Given the description of an element on the screen output the (x, y) to click on. 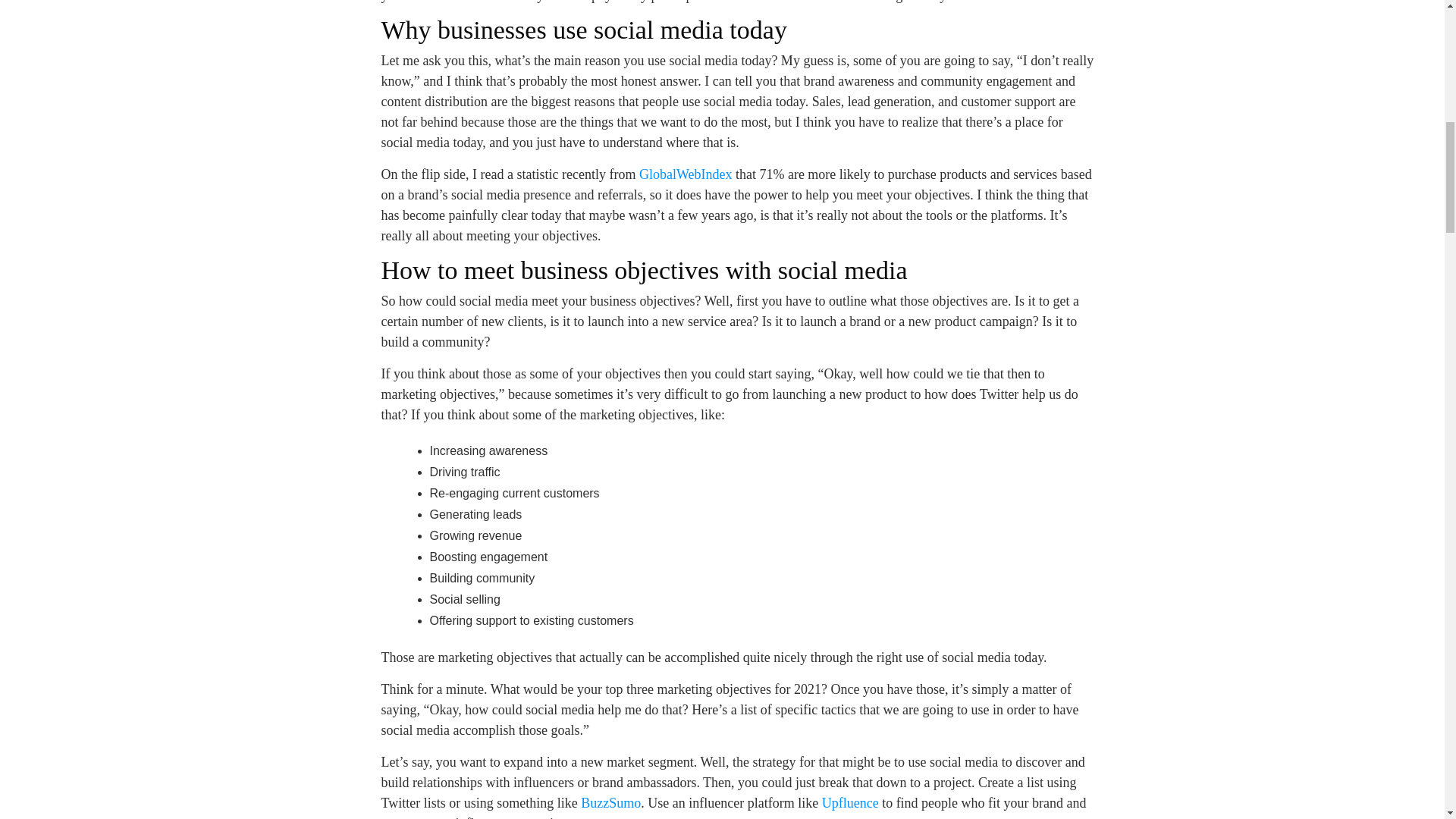
Upfluence (850, 802)
GlobalWebIndex (685, 174)
BuzzSumo (610, 802)
